Given the description of an element on the screen output the (x, y) to click on. 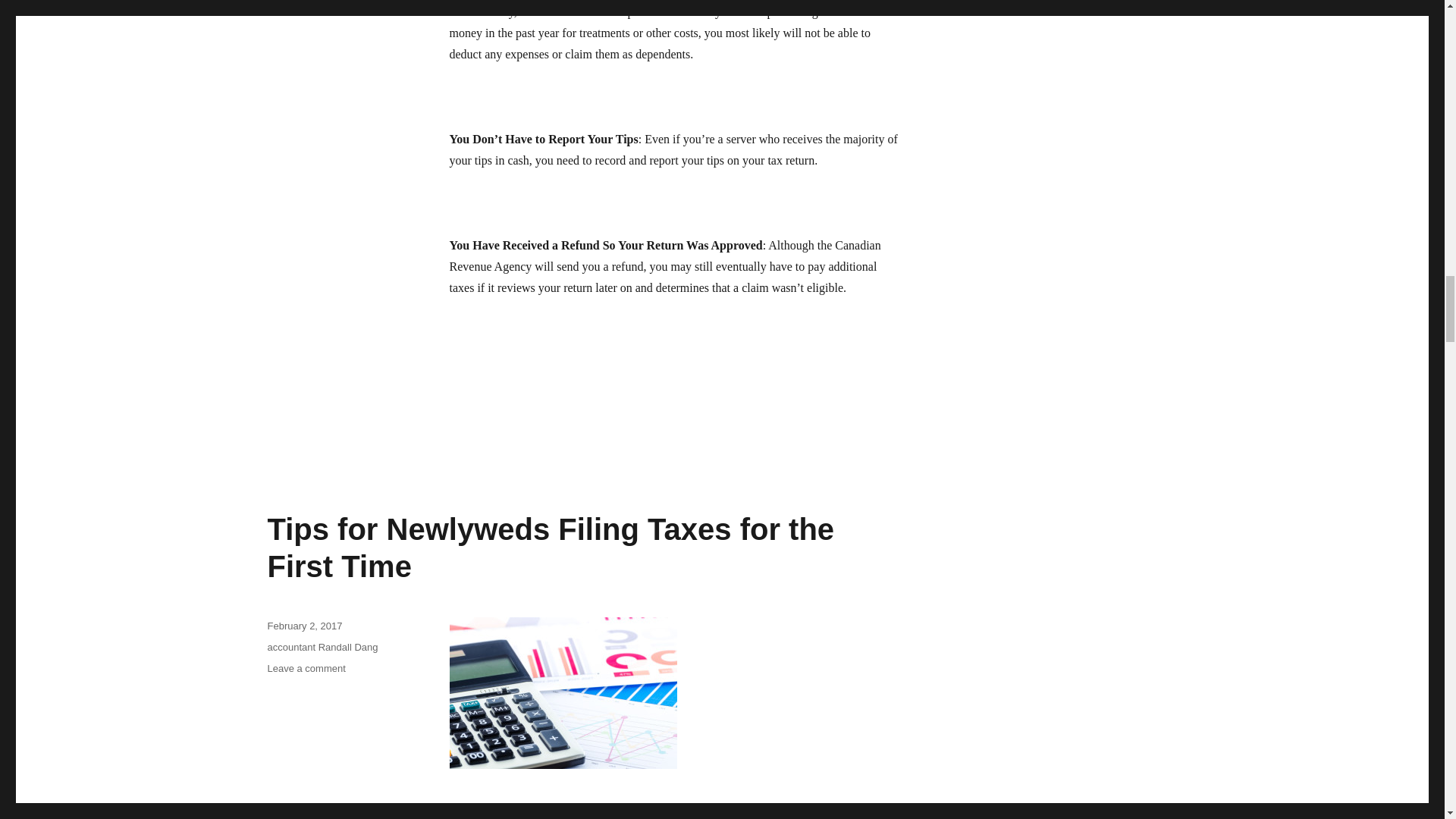
February 2, 2017 (304, 625)
Tips for Newlyweds Filing Taxes for the First Time (550, 547)
